Given the description of an element on the screen output the (x, y) to click on. 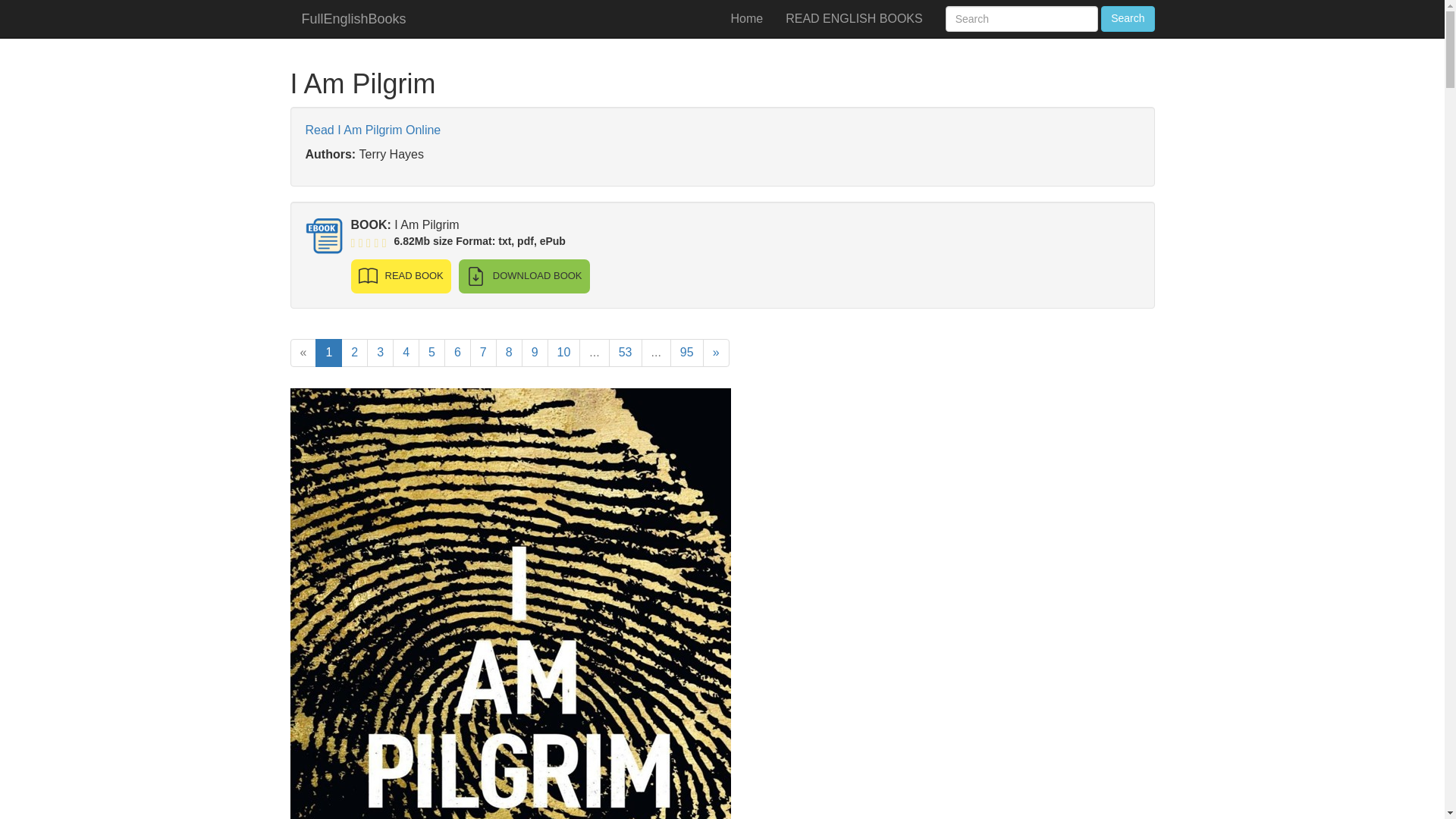
95 (686, 352)
Home (746, 18)
3 (379, 352)
1 (328, 352)
5 (432, 352)
10 (563, 352)
READ ENGLISH BOOKS (854, 18)
2 (354, 352)
FullEnglishBooks (352, 18)
READ BOOK (399, 276)
4 (406, 352)
53 (625, 352)
DOWNLOAD BOOK (523, 276)
6 (457, 352)
9 (534, 352)
